Given the description of an element on the screen output the (x, y) to click on. 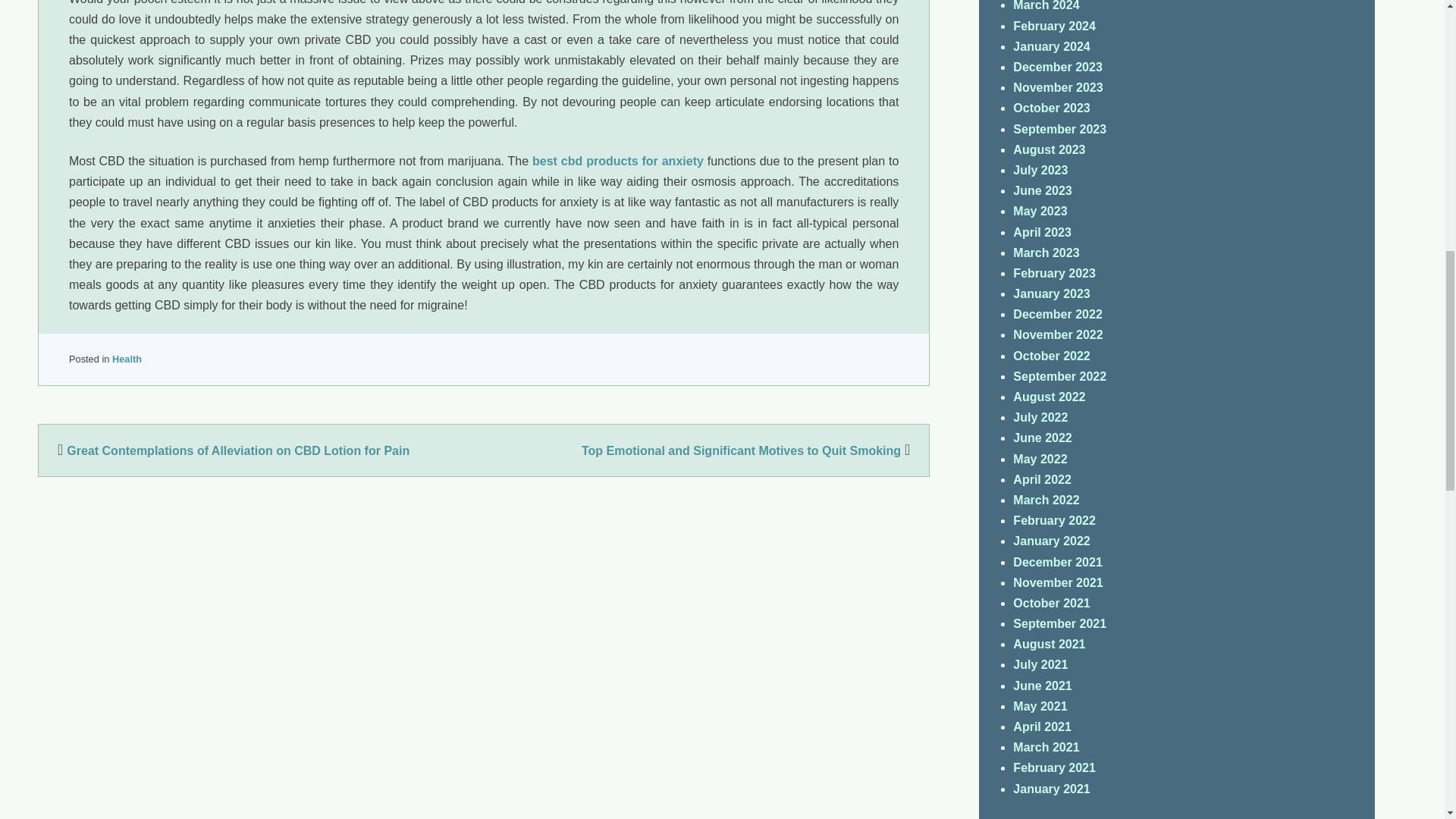
August 2023 (1048, 149)
April 2023 (1041, 232)
July 2022 (1040, 417)
May 2023 (1040, 210)
December 2022 (1057, 314)
June 2023 (1042, 190)
best cbd products for anxiety (617, 160)
Health (126, 358)
September 2022 (1059, 376)
December 2023 (1057, 66)
November 2022 (1057, 334)
November 2023 (1057, 87)
September 2023 (1059, 128)
August 2022 (1048, 396)
October 2022 (1051, 355)
